Given the description of an element on the screen output the (x, y) to click on. 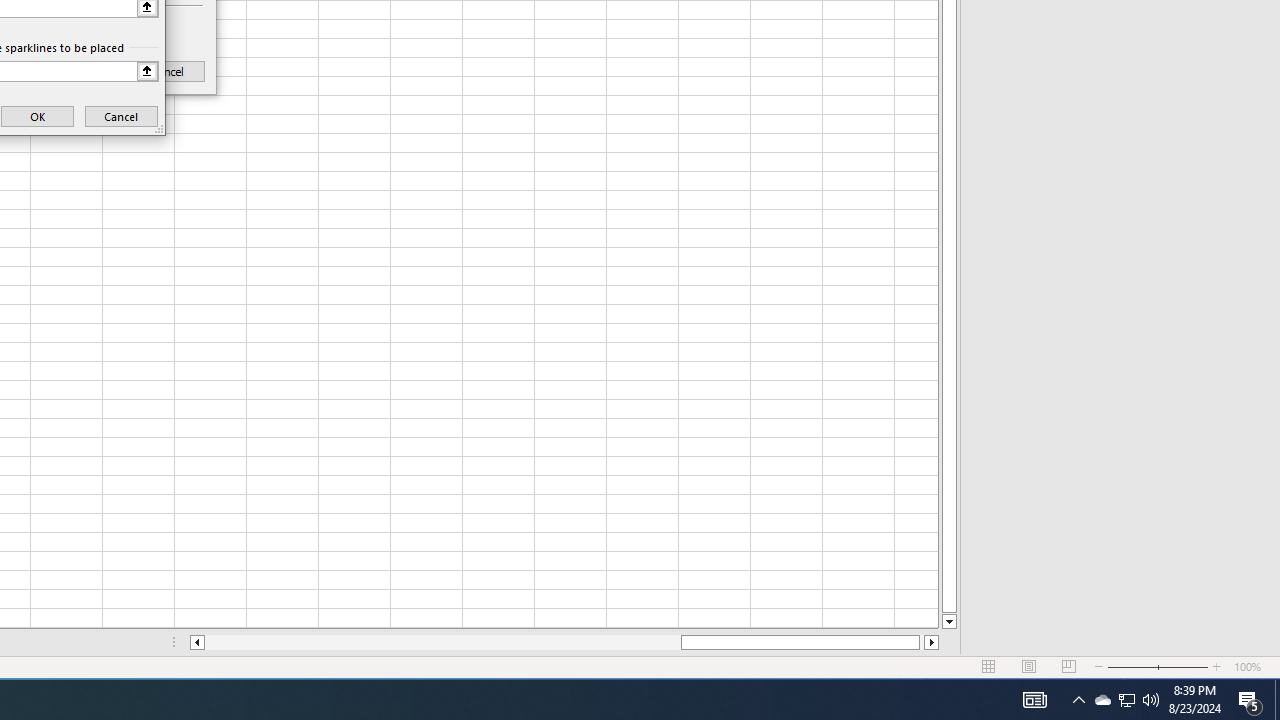
OK (37, 116)
Show desktop (1126, 699)
Q2790: 100% (1277, 699)
Cancel (1151, 699)
